Given the description of an element on the screen output the (x, y) to click on. 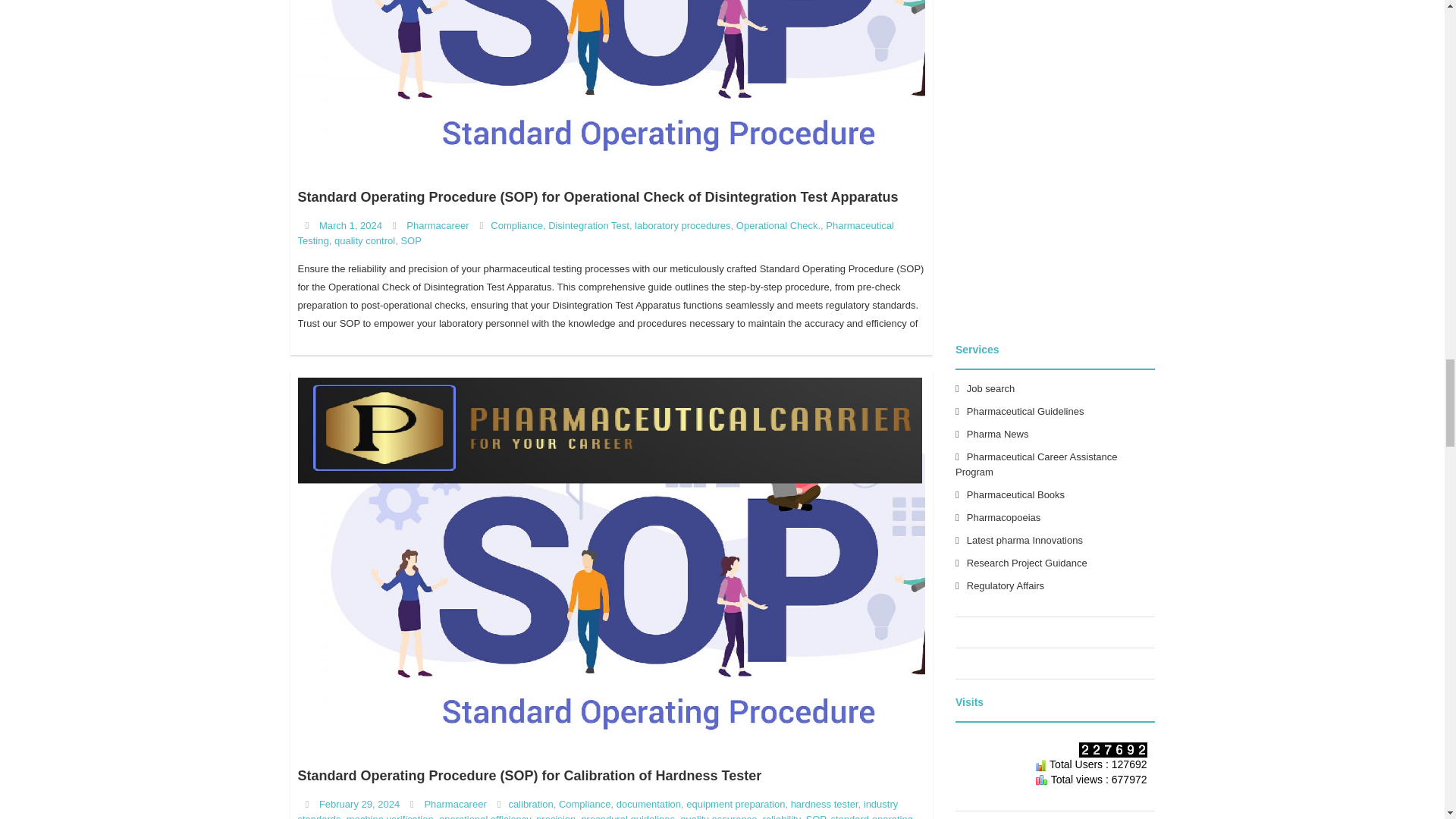
5:51 pm (358, 803)
View all posts by Pharmacareer (454, 803)
View all posts by Pharmacareer (437, 225)
6:31 pm (349, 225)
